Given the description of an element on the screen output the (x, y) to click on. 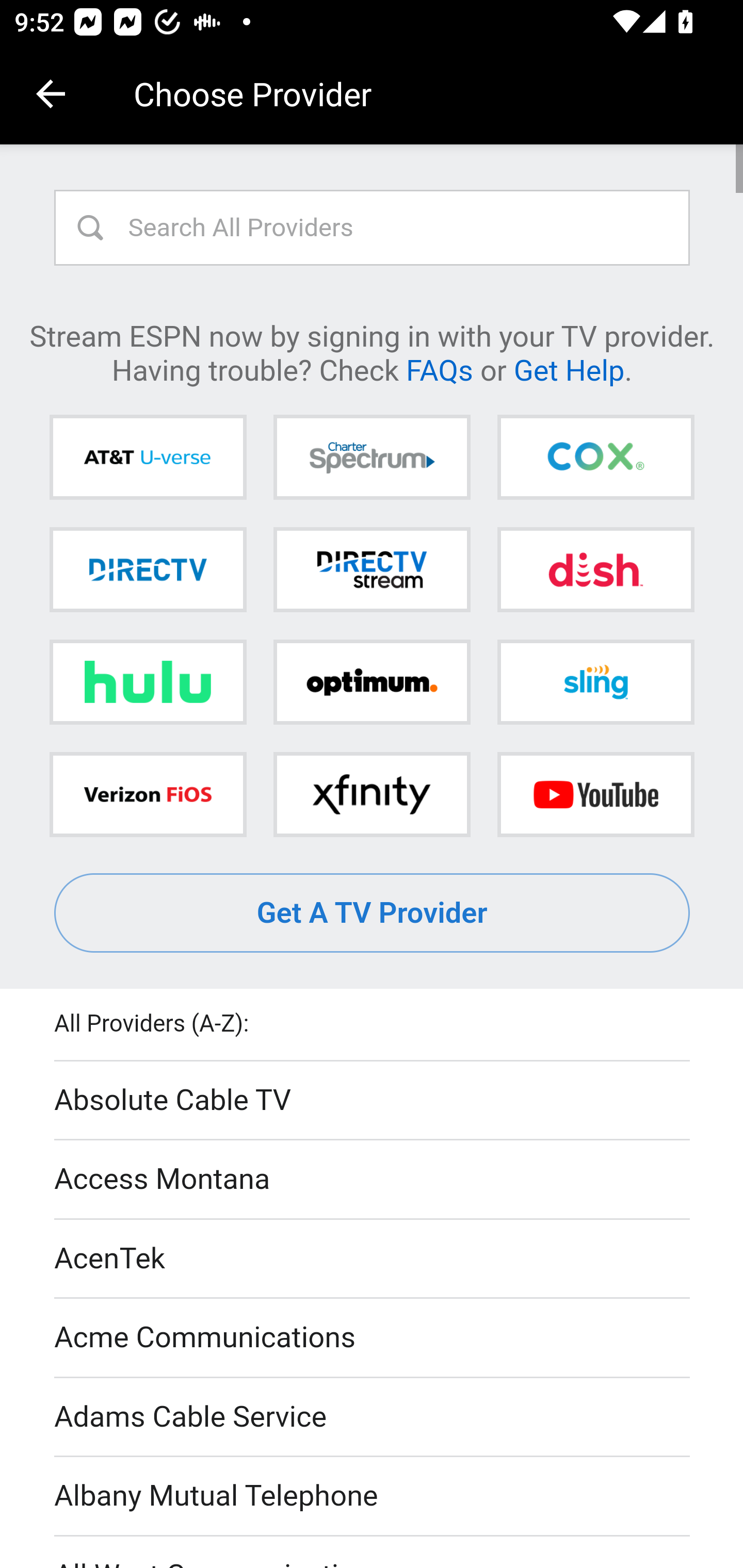
Navigate up (50, 93)
FAQs (438, 369)
Get Help (569, 369)
AT&T U-verse (147, 457)
Charter Spectrum (371, 457)
Cox (595, 457)
DIRECTV (147, 568)
DIRECTV STREAM (371, 568)
DISH (595, 568)
Hulu (147, 681)
Optimum (371, 681)
Sling TV (595, 681)
Verizon FiOS (147, 793)
Xfinity (371, 793)
YouTube TV (595, 793)
Get A TV Provider (372, 912)
Absolute Cable TV (372, 1100)
Access Montana (372, 1178)
AcenTek (372, 1258)
Acme Communications (372, 1338)
Adams Cable Service (372, 1417)
Albany Mutual Telephone (372, 1497)
